Given the description of an element on the screen output the (x, y) to click on. 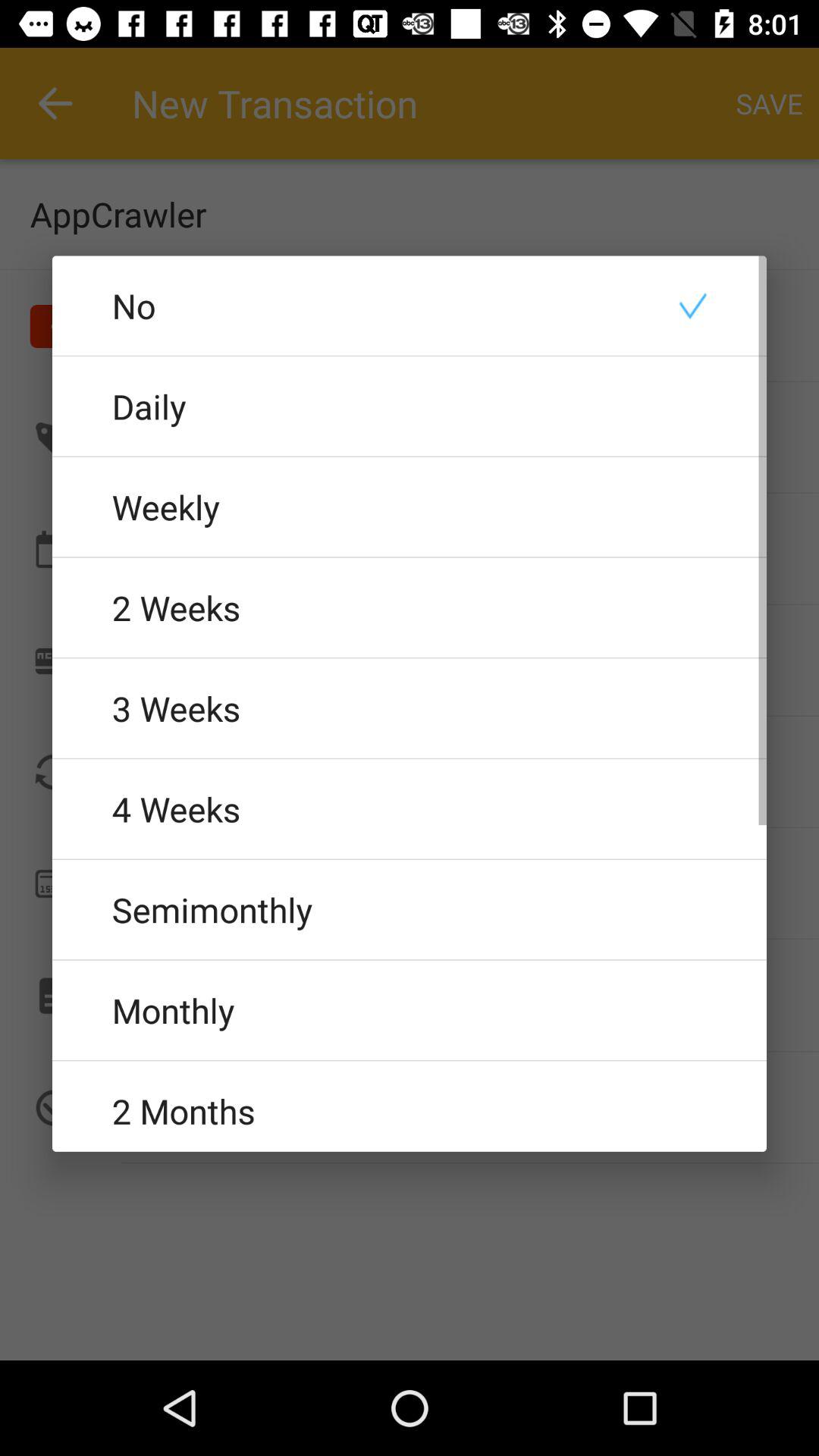
tap the 4 weeks icon (409, 808)
